Given the description of an element on the screen output the (x, y) to click on. 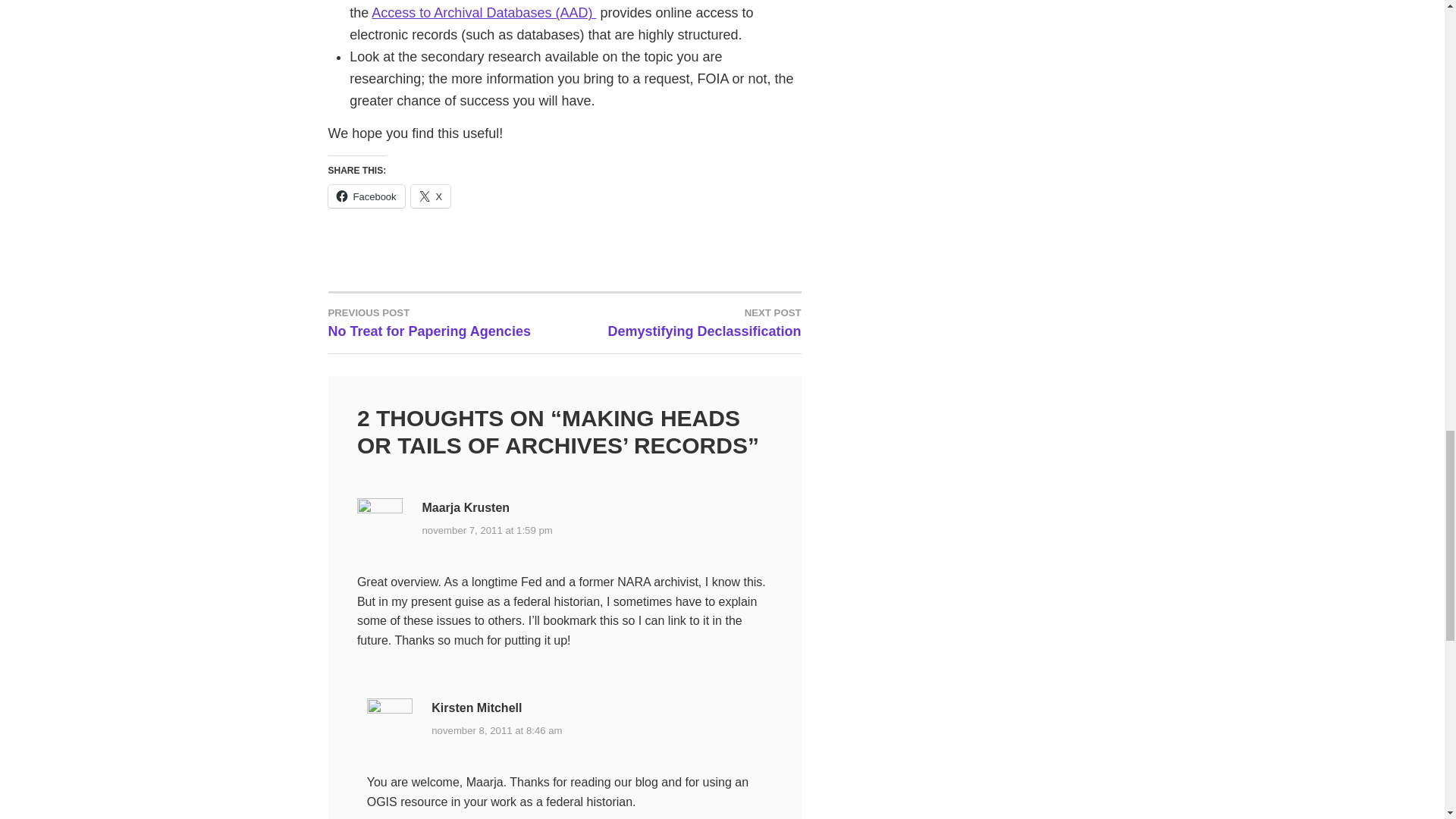
Click to share on Facebook (365, 196)
X (430, 196)
november 7, 2011 at 1:59 pm (486, 530)
Facebook (682, 321)
Access to Archival Databases (365, 196)
november 8, 2011 at 8:46 am (445, 321)
Click to share on X (483, 12)
